Given the description of an element on the screen output the (x, y) to click on. 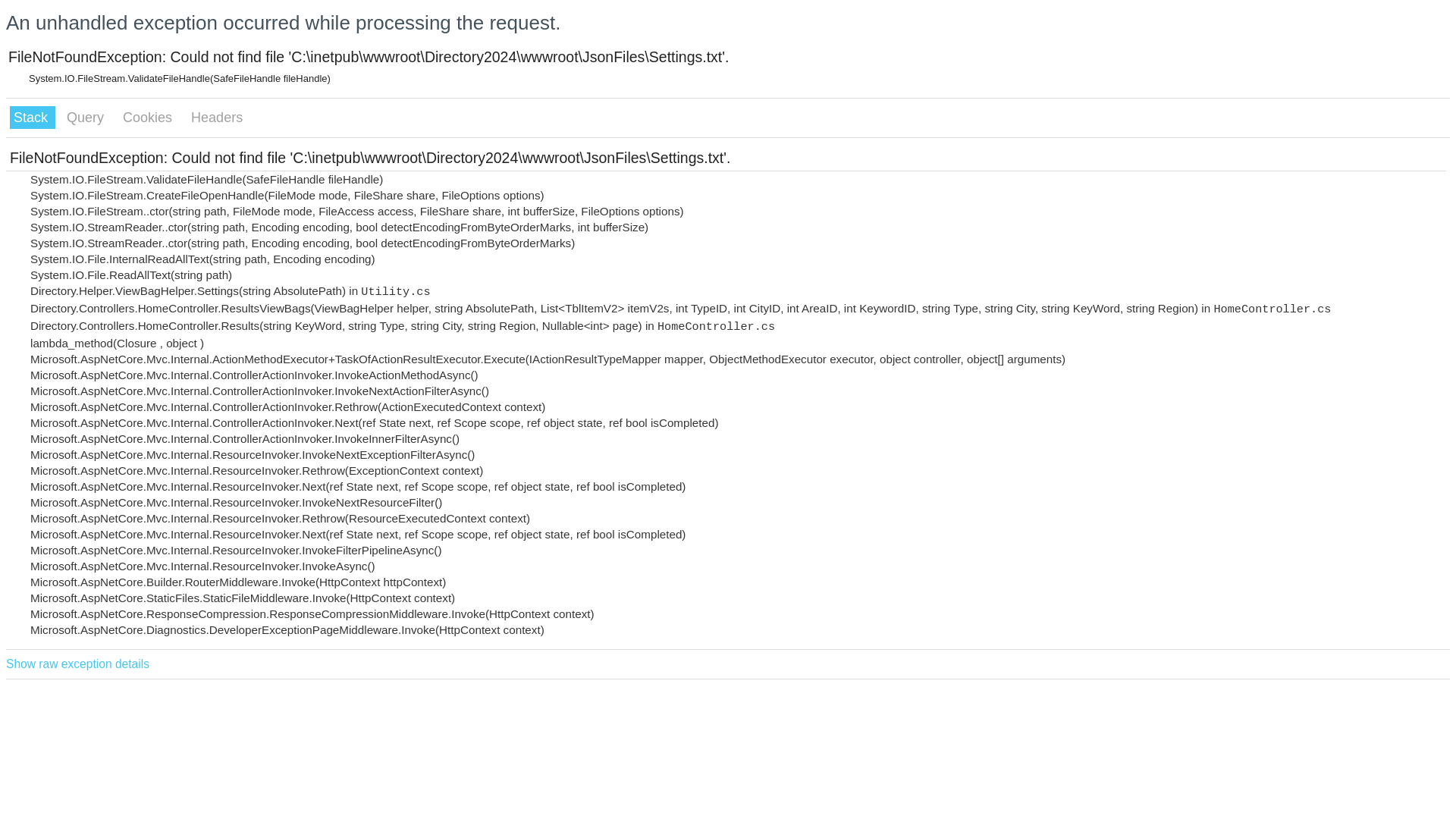
Show raw exception details Element type: text (77, 664)
